Given the description of an element on the screen output the (x, y) to click on. 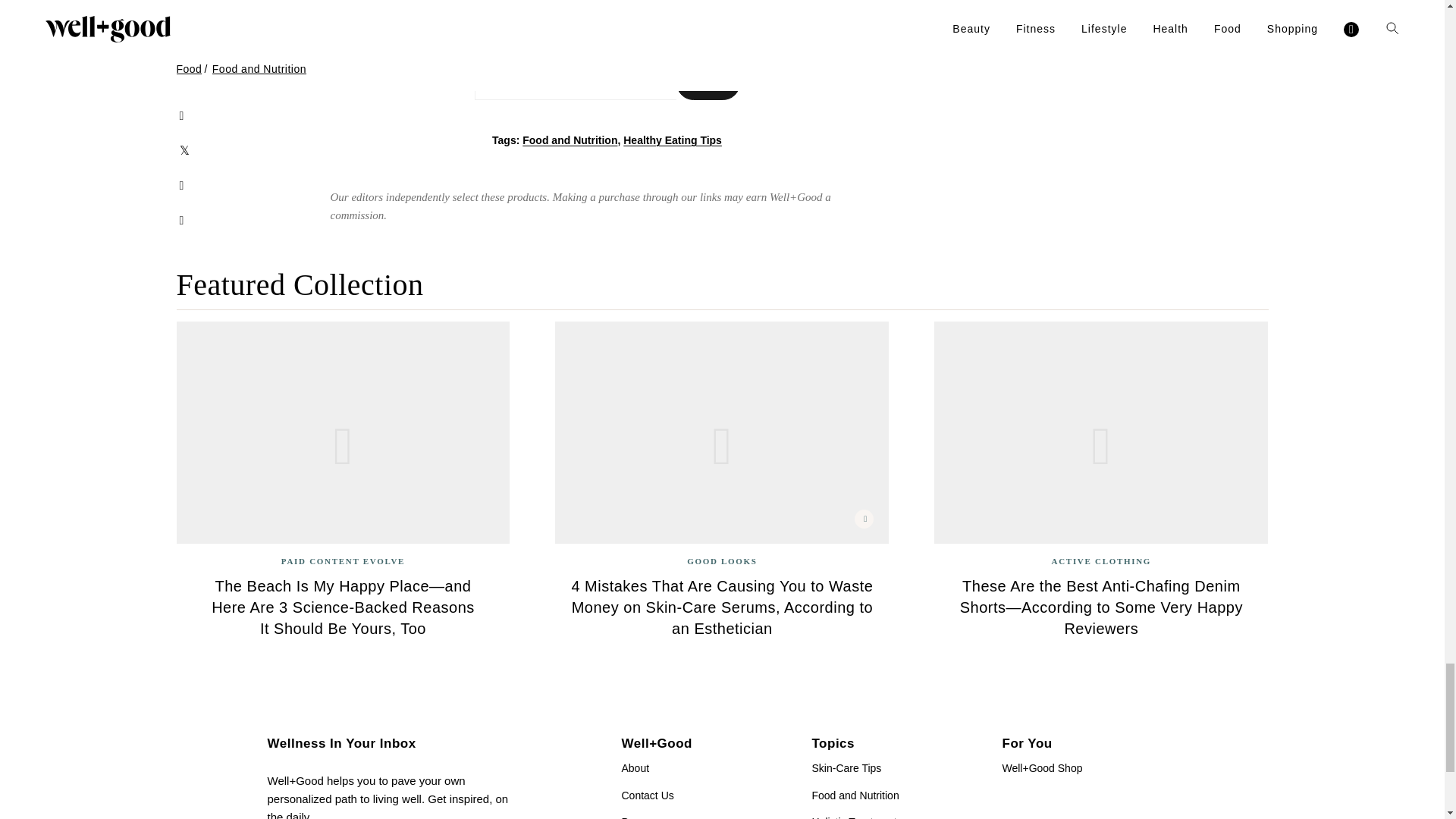
Sign Up (708, 82)
